Given the description of an element on the screen output the (x, y) to click on. 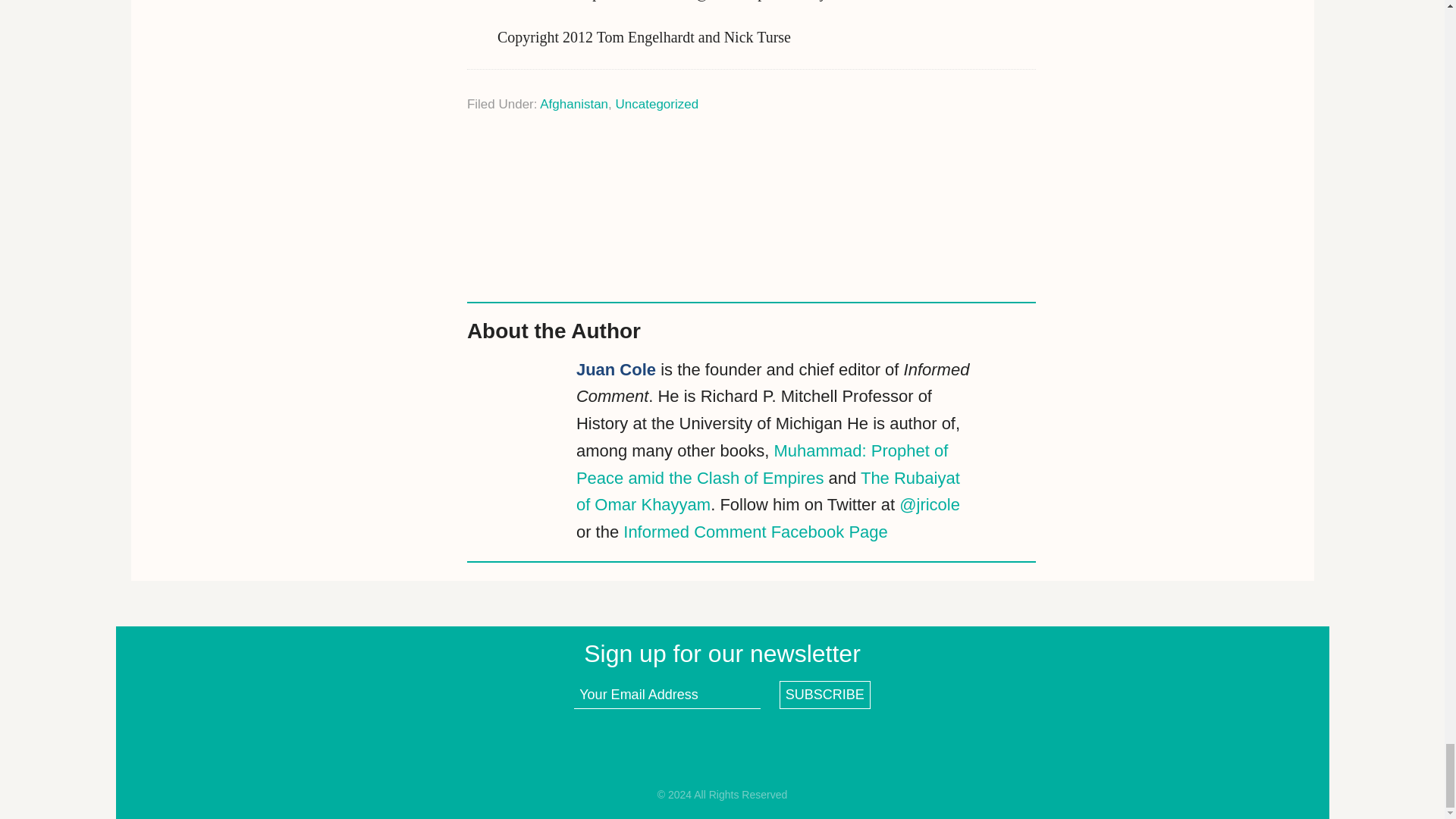
Afghanistan (574, 104)
subscribe (824, 694)
Juan Cole (616, 369)
Informed Comment Facebook Page (755, 531)
The Rubaiyat of Omar Khayyam (767, 491)
Uncategorized (656, 104)
Muhammad: Prophet of Peace amid the Clash of Empires (761, 464)
